Given the description of an element on the screen output the (x, y) to click on. 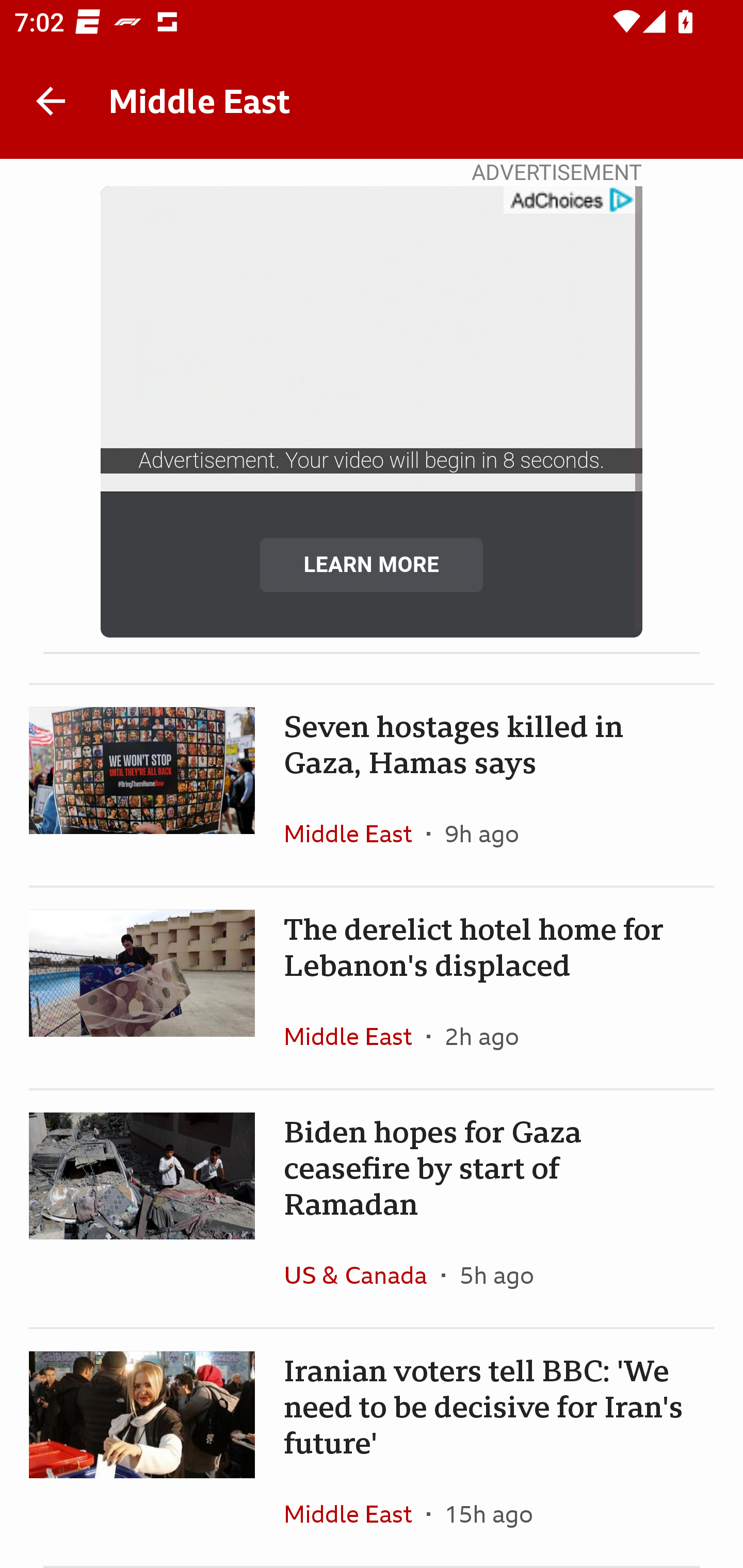
Back (50, 101)
get?name=admarker-full-tl (571, 200)
LEARN MORE (371, 564)
Middle East In the section Middle East (354, 832)
Middle East In the section Middle East (354, 1036)
US & Canada In the section US & Canada (362, 1274)
Middle East In the section Middle East (354, 1513)
